Given the description of an element on the screen output the (x, y) to click on. 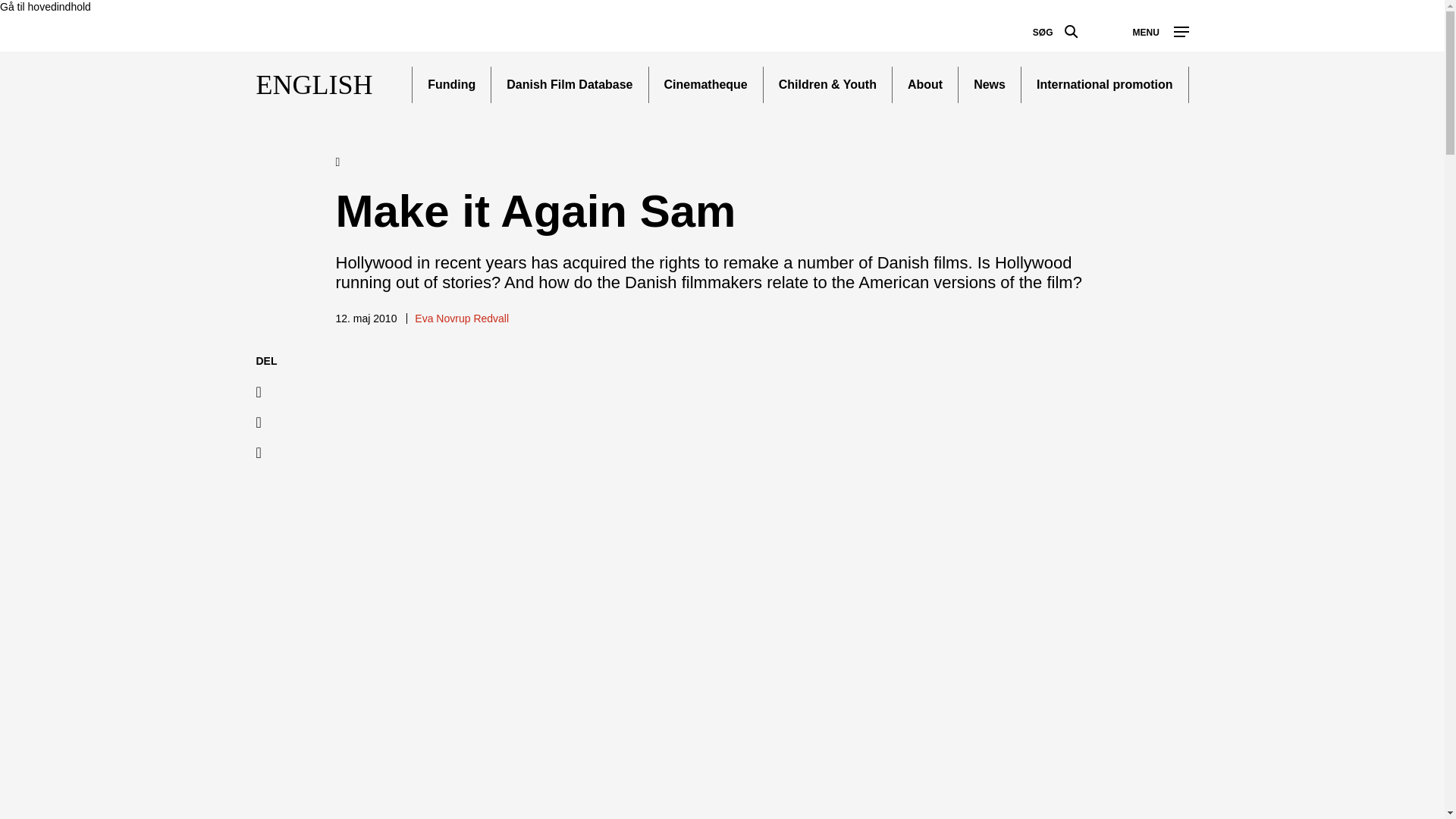
English (342, 162)
